Given the description of an element on the screen output the (x, y) to click on. 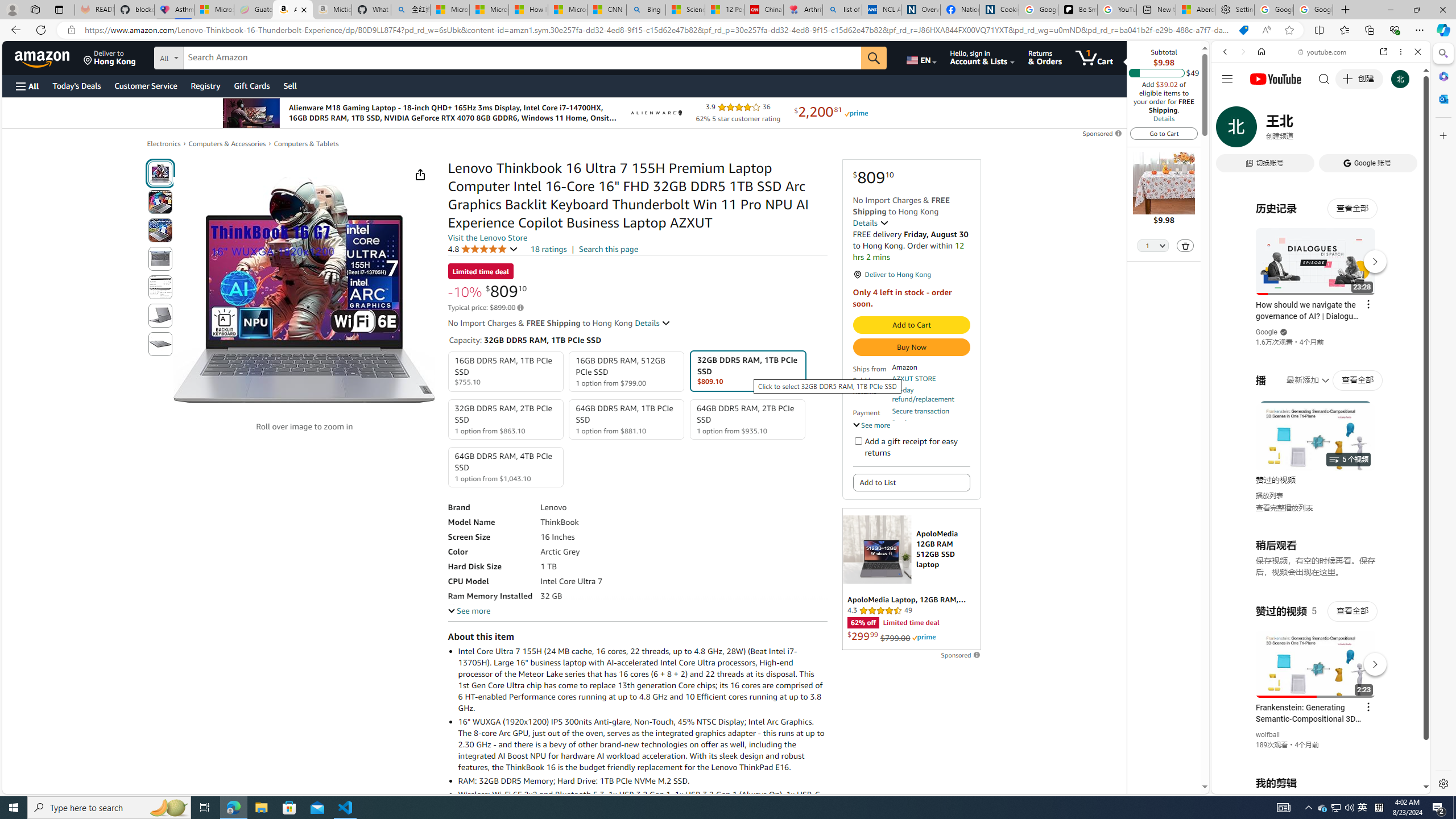
30-day refund/replacement (930, 394)
64GB DDR5 RAM, 4TB PCIe SSD 1 option from $1,043.10 (505, 466)
Product support included (930, 427)
Search Filter, Search Tools (1350, 129)
Computers & Accessories (226, 144)
Sponsored ad (911, 578)
